Given the description of an element on the screen output the (x, y) to click on. 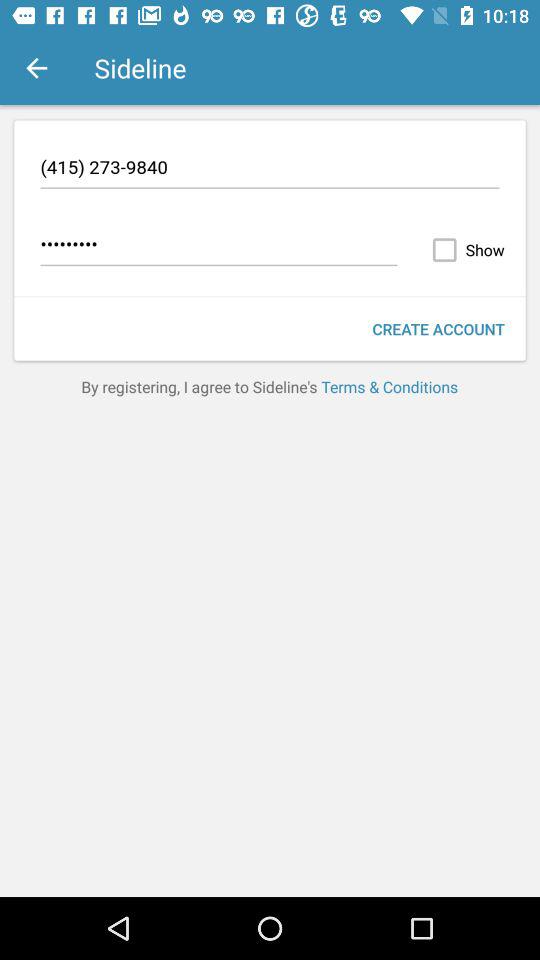
select the item above the (415) 273-9840 icon (36, 68)
